Given the description of an element on the screen output the (x, y) to click on. 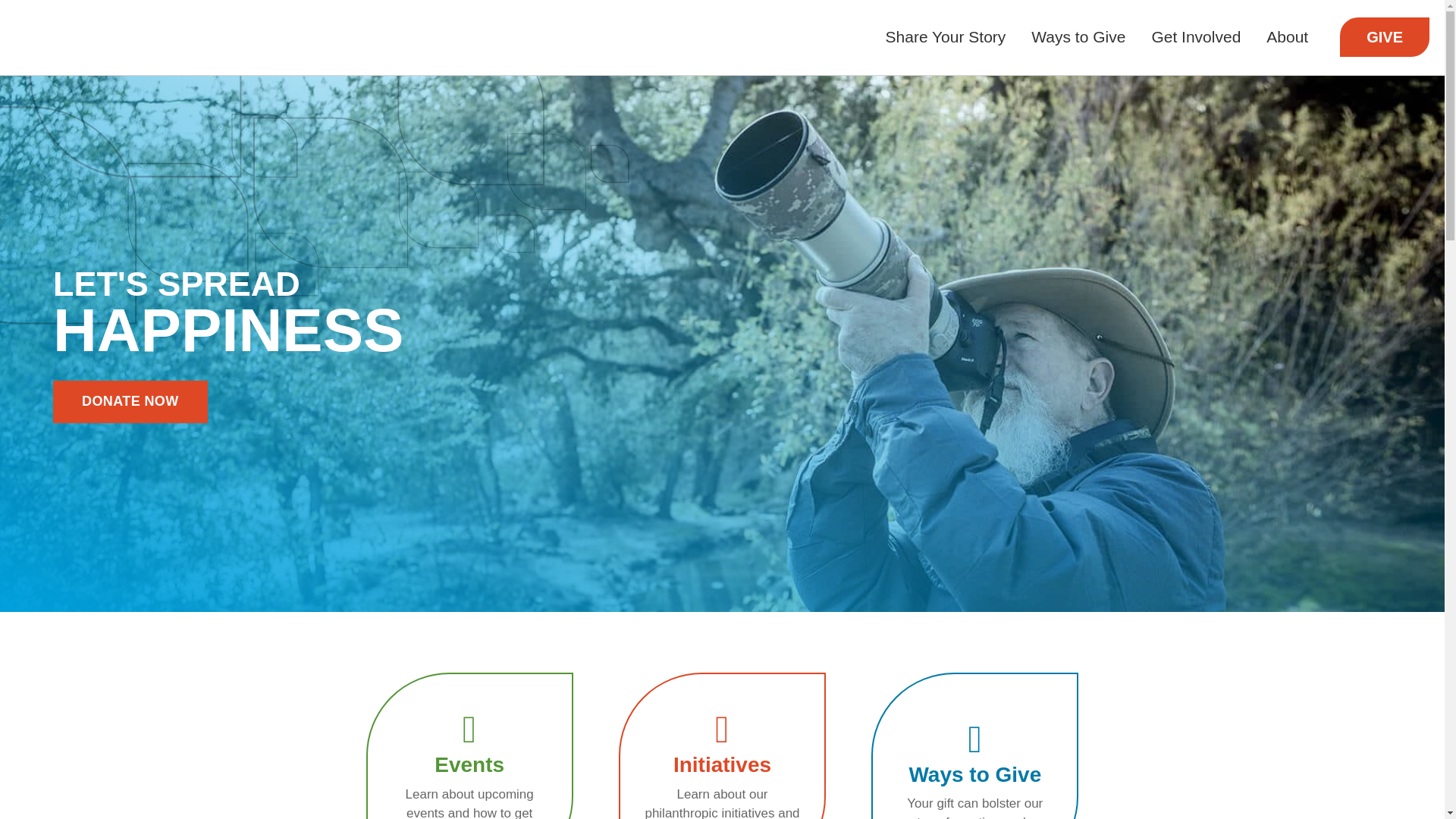
About (1286, 37)
Ways to Give (1077, 37)
Share Your Story (468, 745)
GIVE (945, 37)
DONATE NOW (1384, 36)
Get Involved (130, 401)
